Given the description of an element on the screen output the (x, y) to click on. 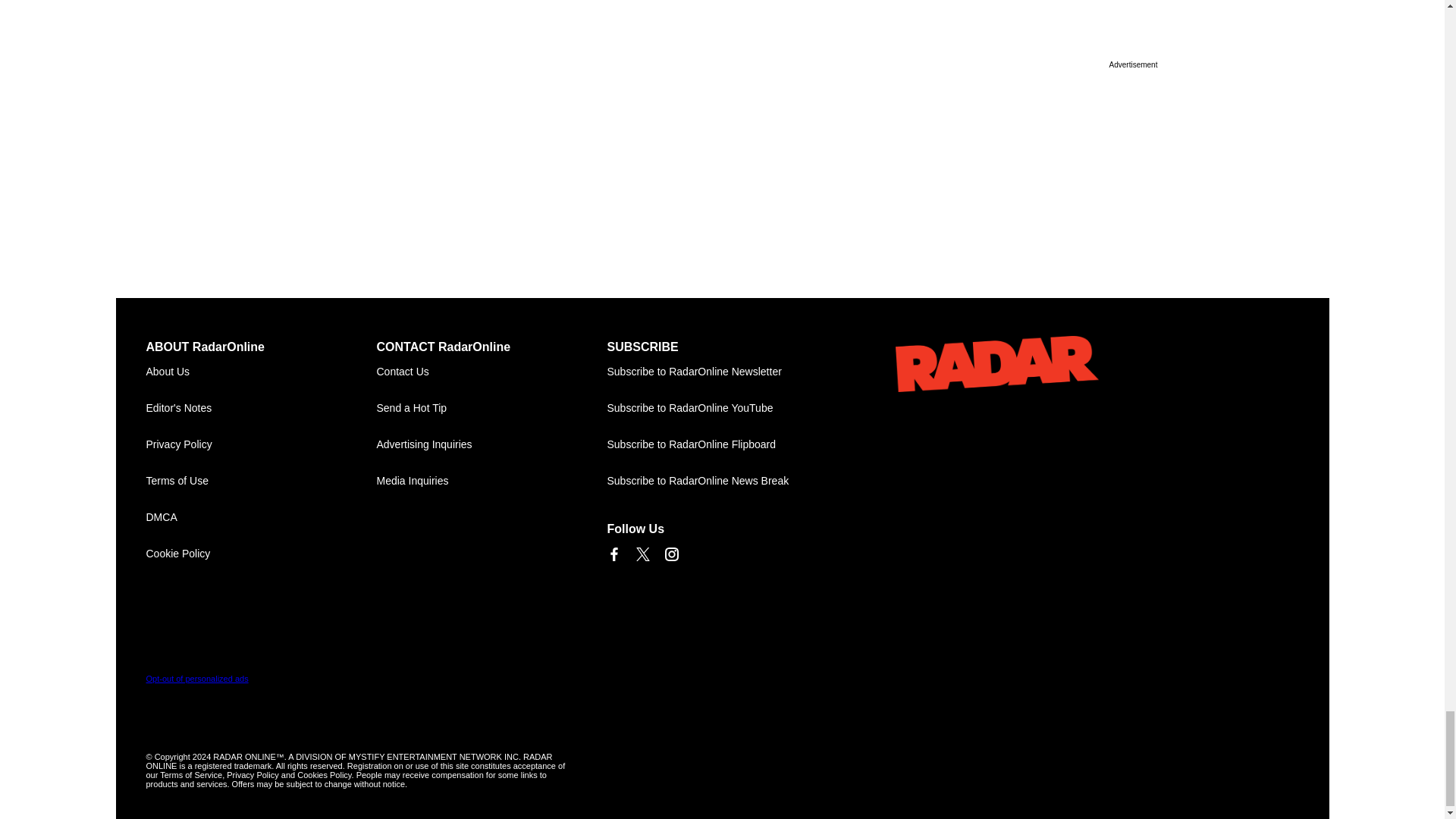
Editor's Notes (260, 408)
Send a Hot Tip (491, 408)
Editor's Notes (260, 408)
Link to X (641, 554)
About Us (260, 371)
Cookie Policy (260, 554)
Subscribe (722, 371)
Advertising Inquiries (491, 444)
Privacy Policy (260, 444)
Media Inquiries (491, 481)
